Given the description of an element on the screen output the (x, y) to click on. 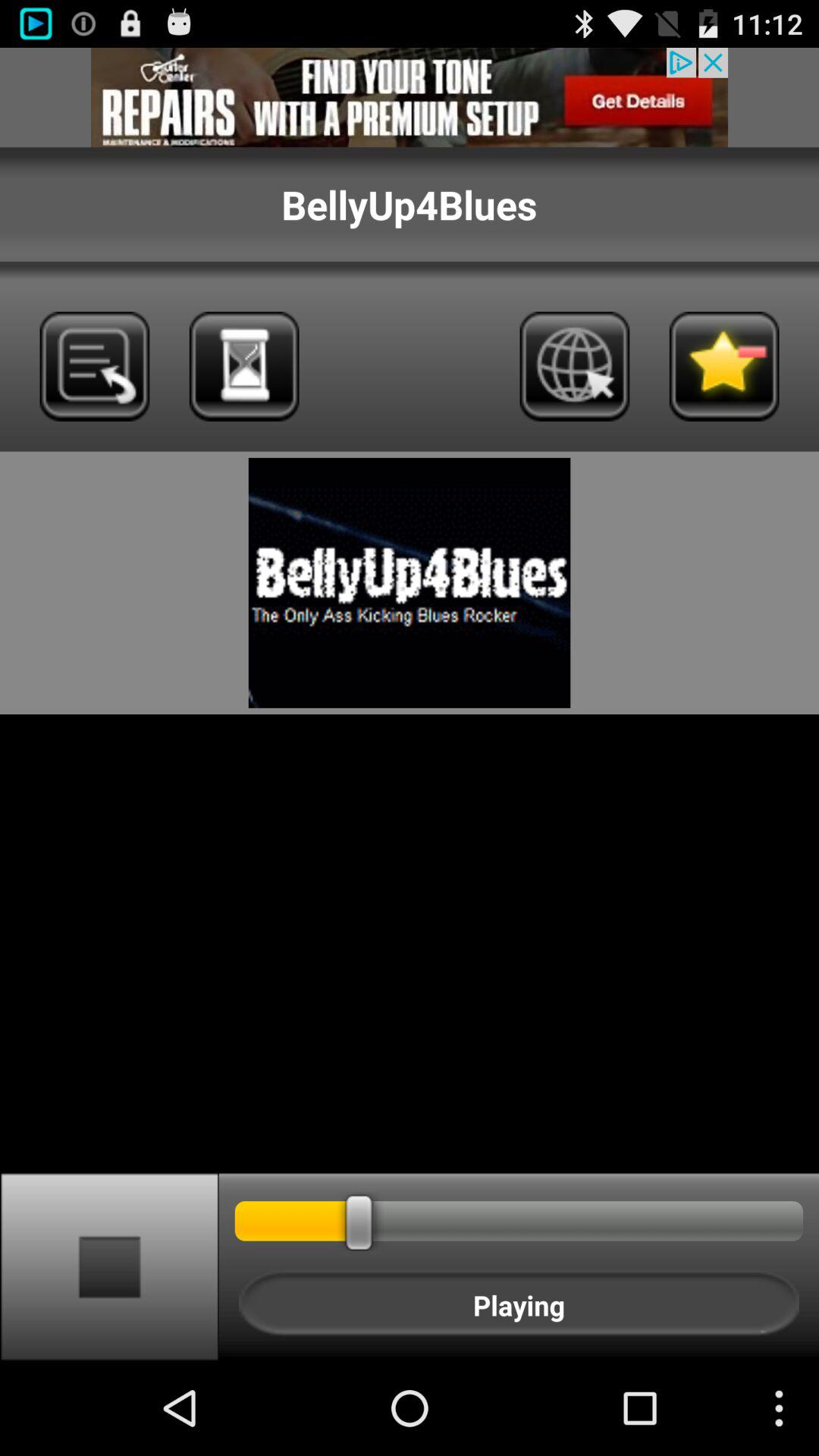
select alarm (244, 366)
